Given the description of an element on the screen output the (x, y) to click on. 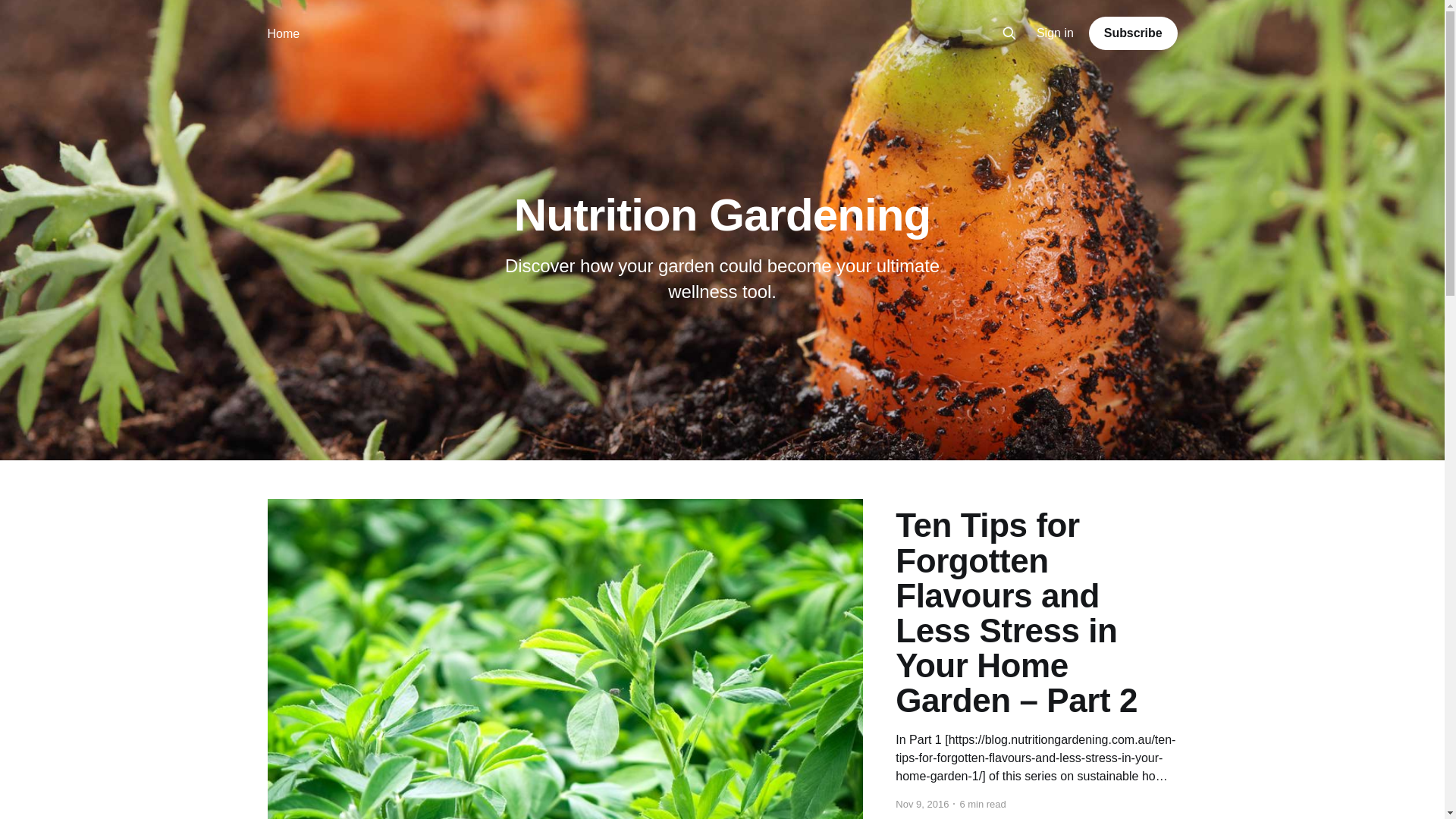
Subscribe Element type: text (1132, 33)
Sign in Element type: text (1054, 33)
Home Element type: text (282, 33)
